Given the description of an element on the screen output the (x, y) to click on. 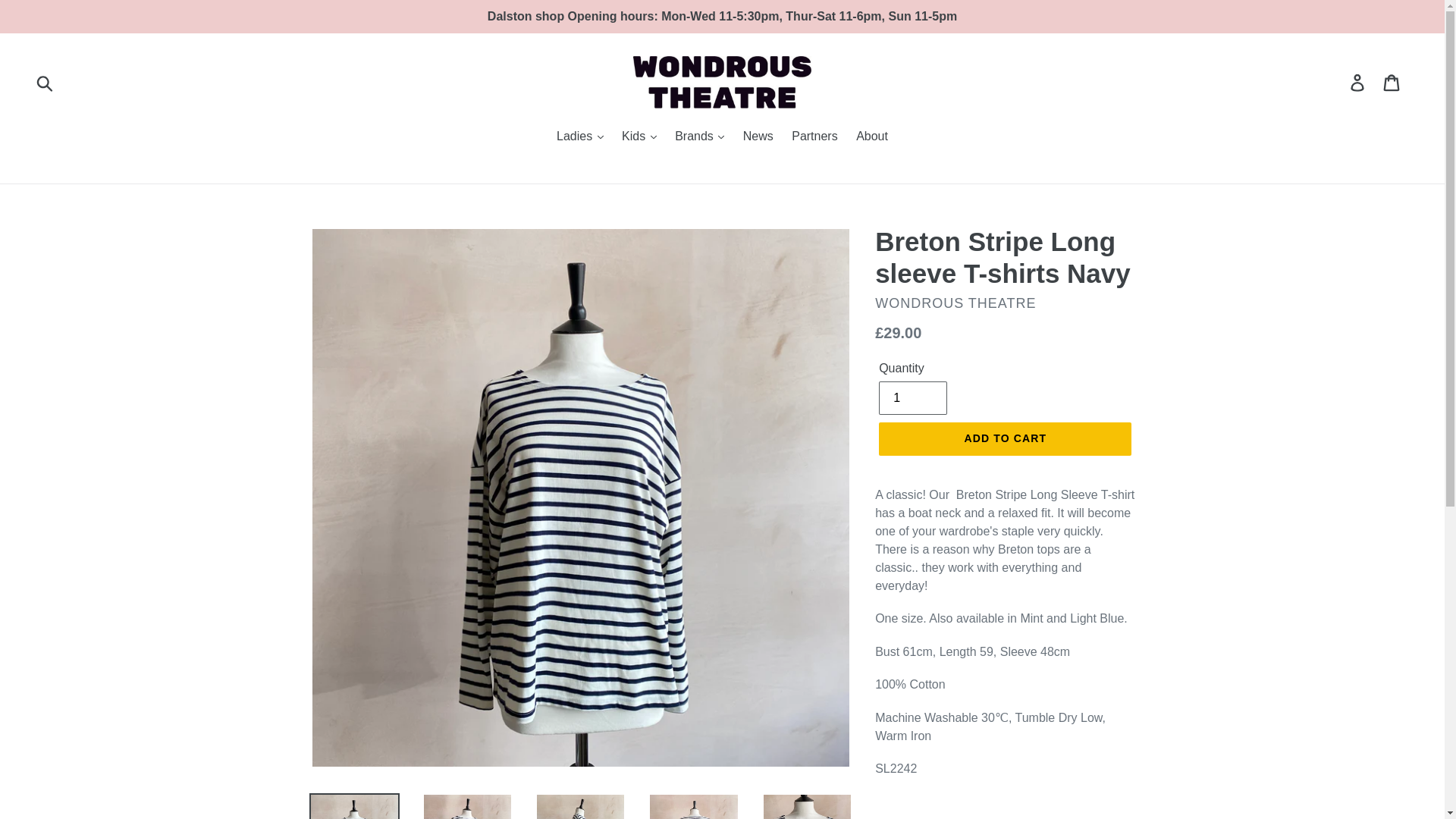
1 (913, 397)
Submit (45, 81)
Cart (1392, 81)
Log in (1357, 81)
